Given the description of an element on the screen output the (x, y) to click on. 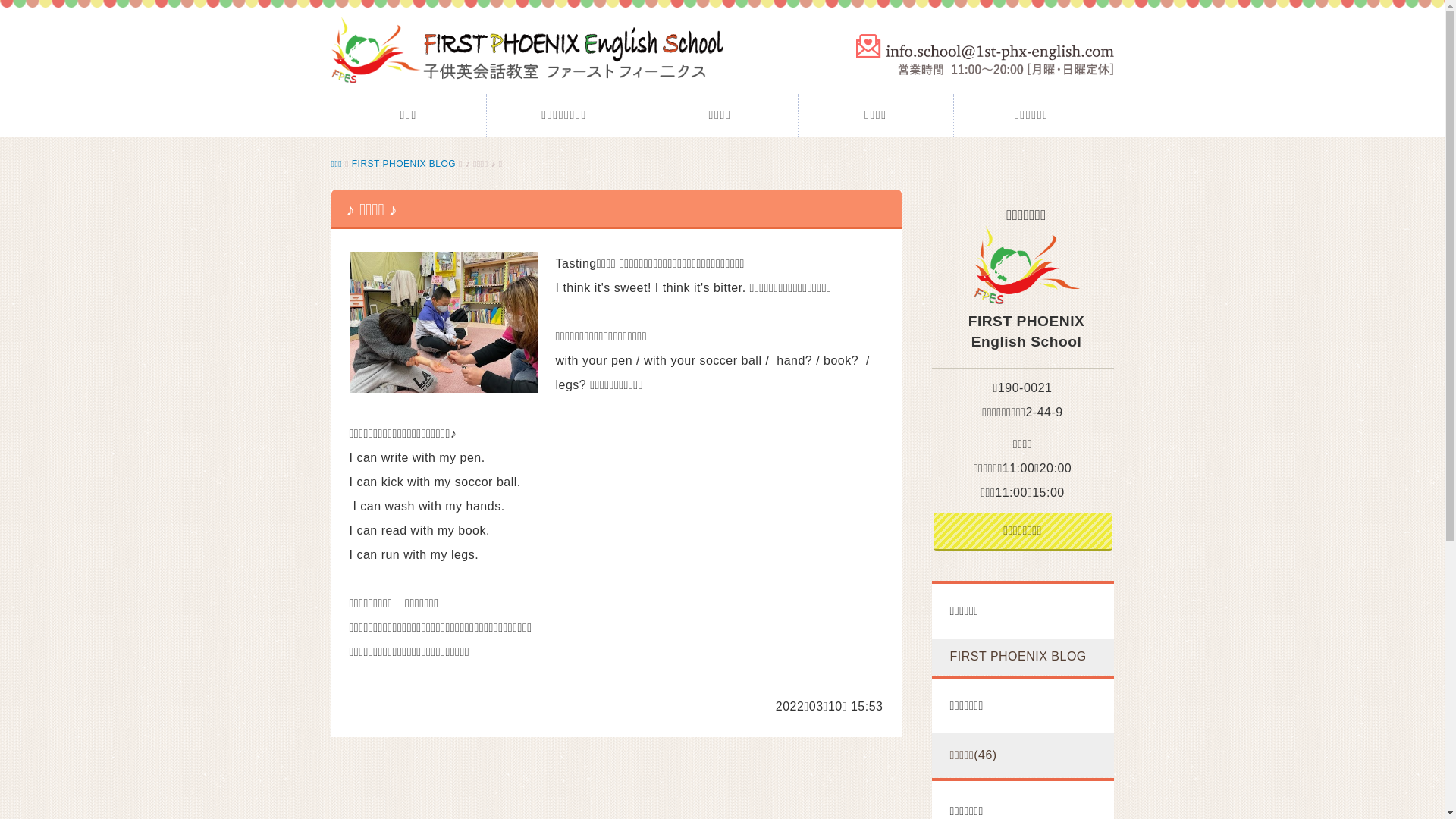
FIRST PHOENIX BLOG Element type: text (403, 163)
FIRST PHOENIX BLOG Element type: text (1022, 656)
